Given the description of an element on the screen output the (x, y) to click on. 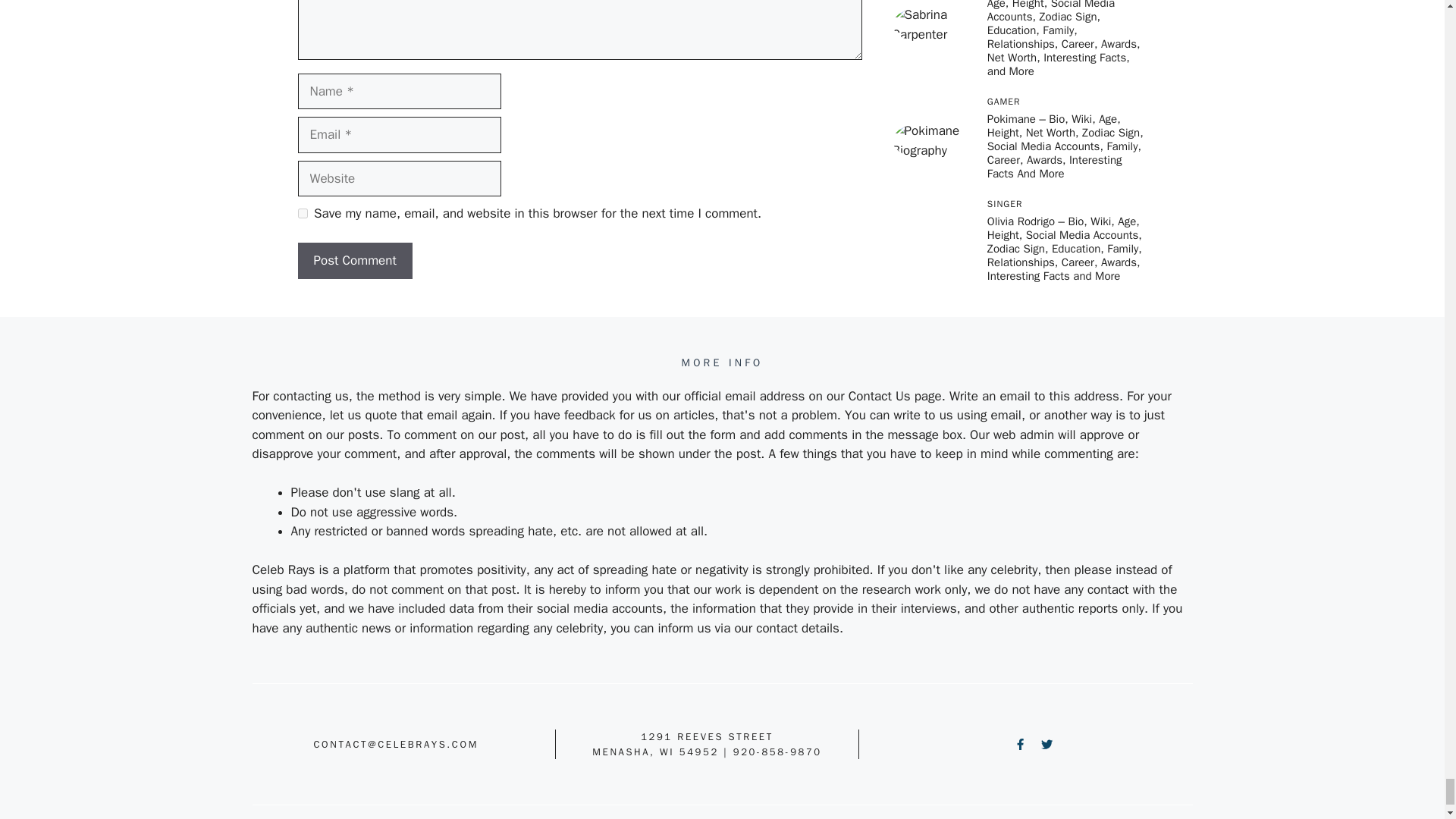
Post Comment (354, 260)
Post Comment (354, 260)
yes (302, 213)
